Given the description of an element on the screen output the (x, y) to click on. 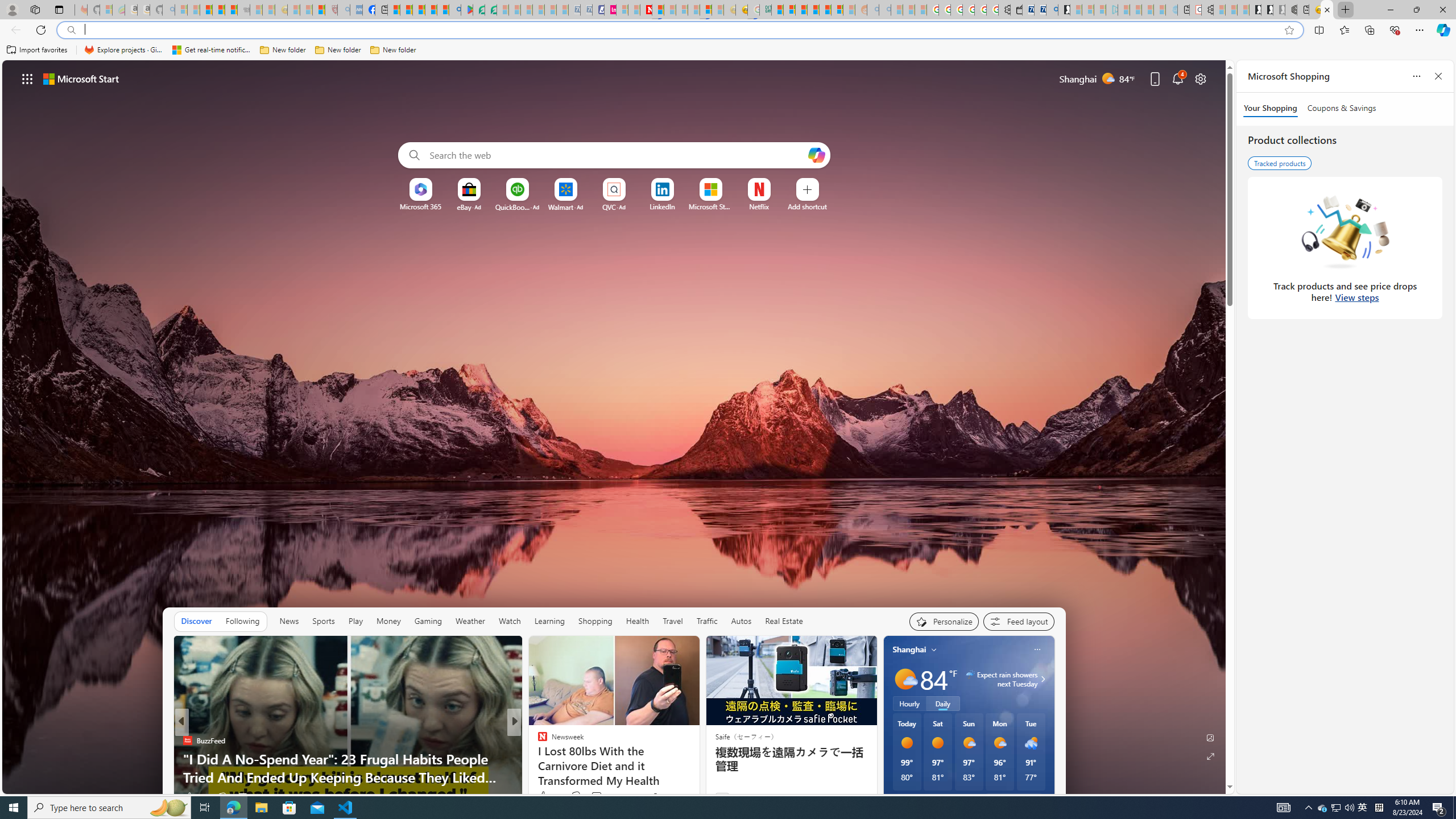
194 Like (545, 796)
Import favorites (36, 49)
INSIDER (537, 740)
You're following Newsweek (670, 795)
